Given the description of an element on the screen output the (x, y) to click on. 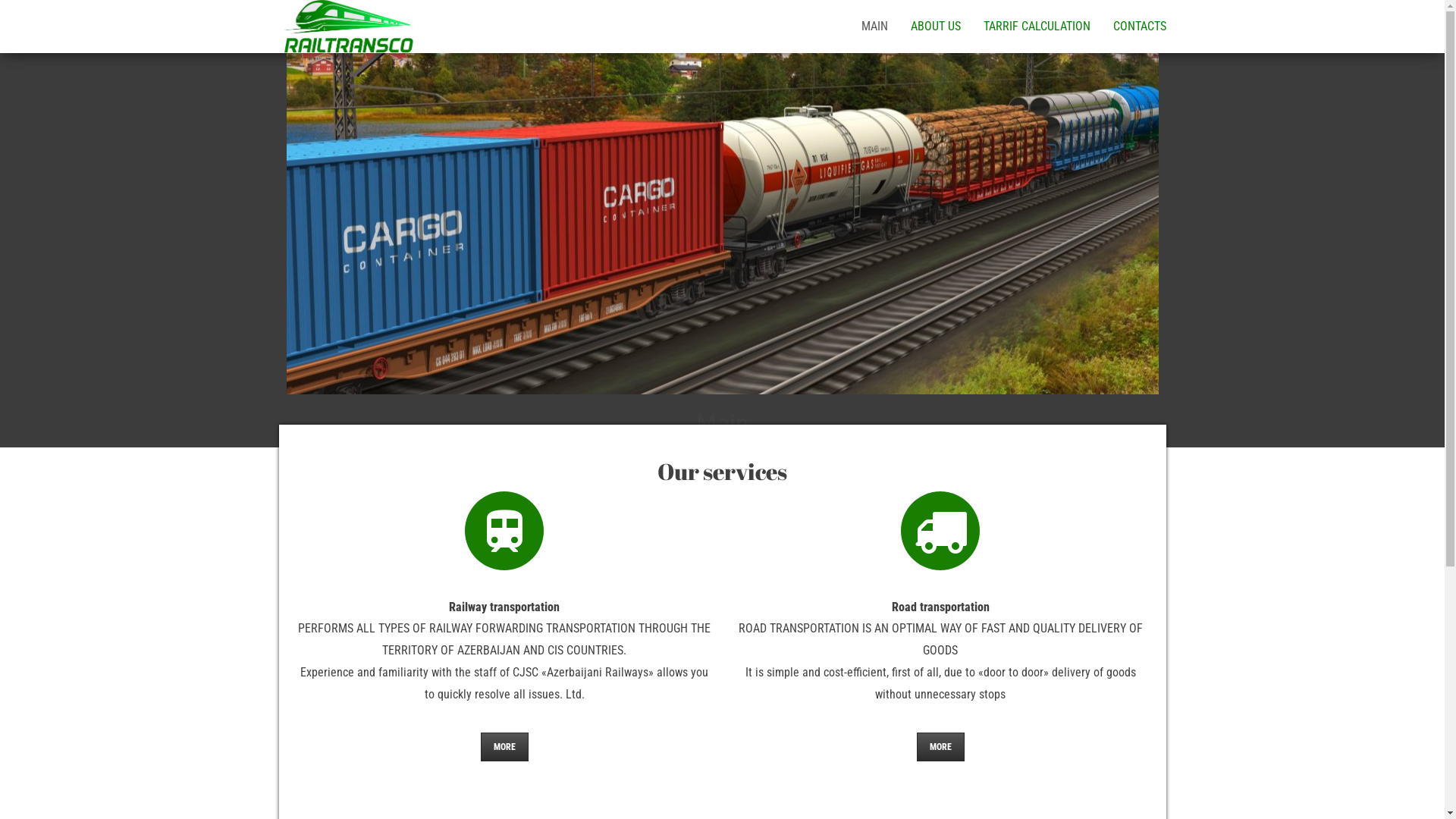
MORE Element type: text (504, 746)
ABOUT US Element type: text (935, 26)
TARRIF CALCULATION Element type: text (1036, 26)
MORE Element type: text (939, 746)
CONTACTS Element type: text (1138, 26)
MAIN Element type: text (873, 26)
